Given the description of an element on the screen output the (x, y) to click on. 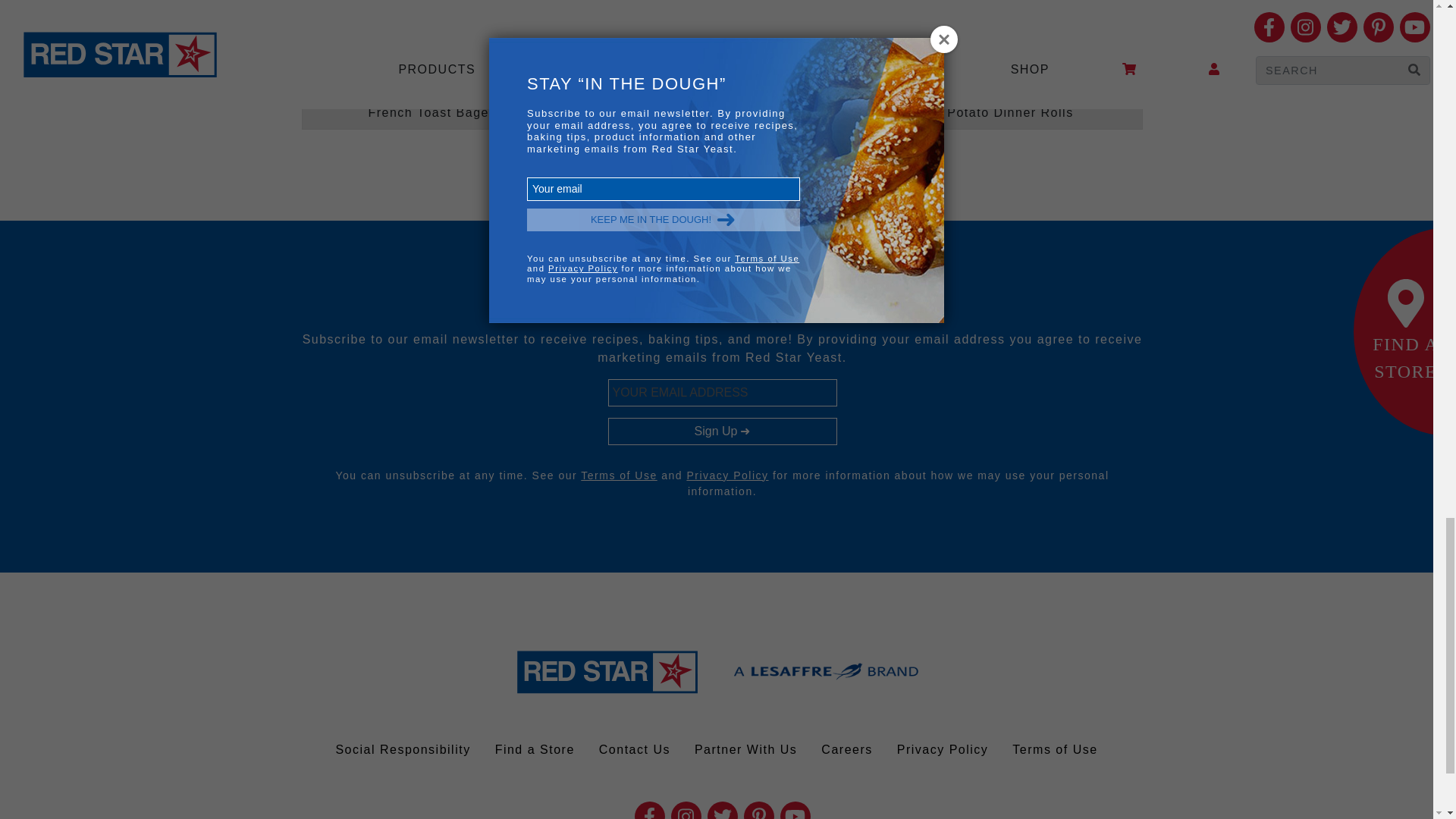
Careers (846, 749)
Social Responsibility (402, 749)
Contact Us (634, 749)
Find a Store (534, 749)
Privacy Policy (943, 749)
Partner With Us (745, 749)
Terms of Use (1054, 749)
